Given the description of an element on the screen output the (x, y) to click on. 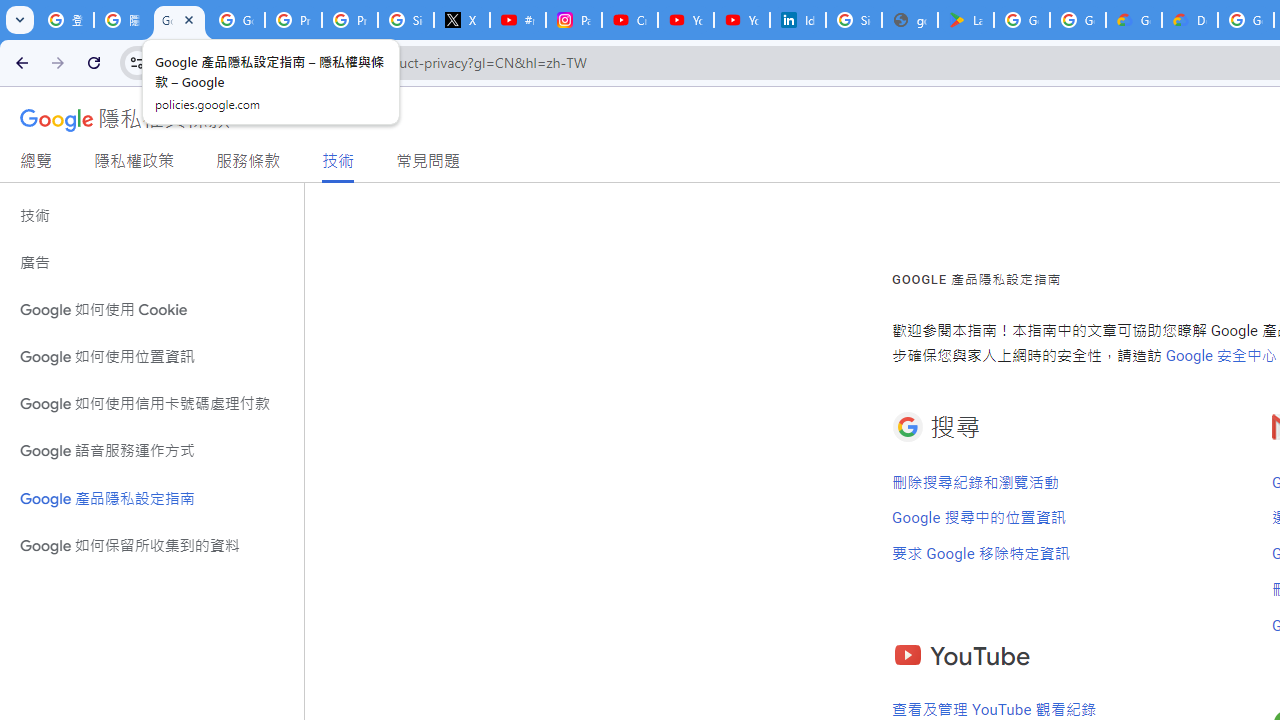
Last Shelter: Survival - Apps on Google Play (966, 20)
X (461, 20)
Privacy Help Center - Policies Help (349, 20)
